Given the description of an element on the screen output the (x, y) to click on. 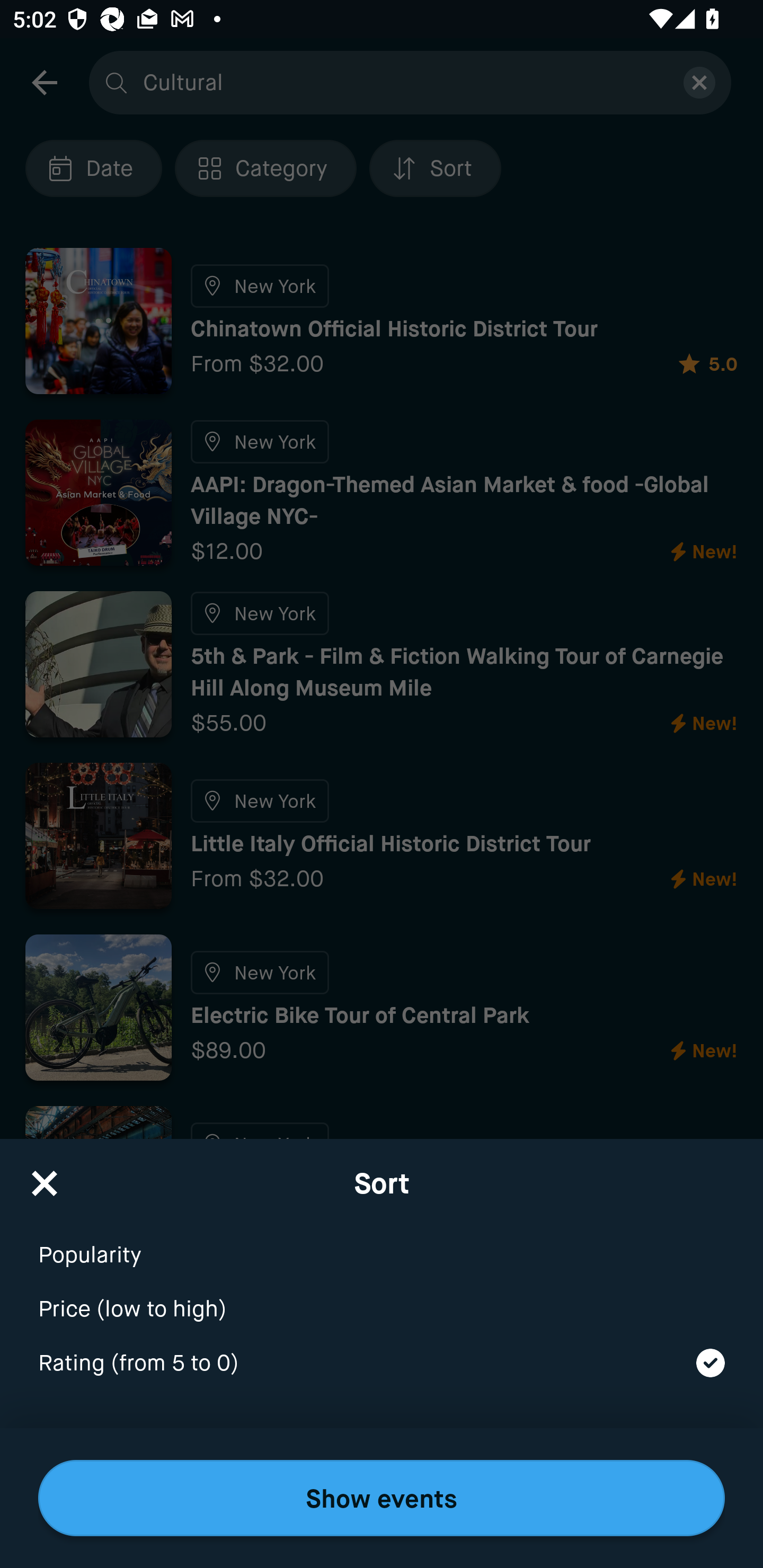
CloseButton (44, 1177)
Popularity (381, 1243)
Price (low to high) (381, 1297)
Rating (from 5 to 0) Selected Icon (381, 1362)
Show events (381, 1497)
